Given the description of an element on the screen output the (x, y) to click on. 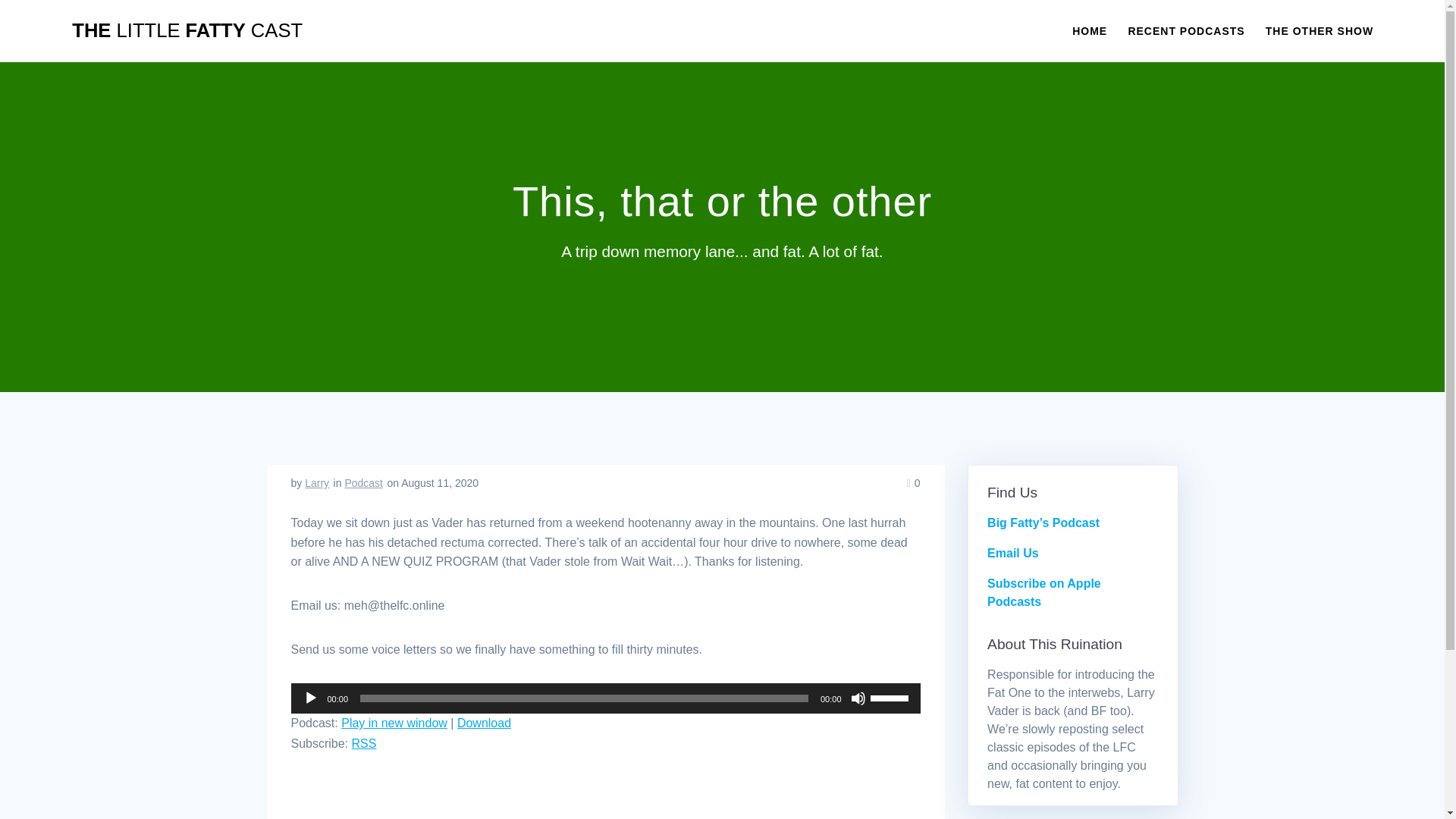
Podcast (362, 482)
RECENT PODCASTS (1185, 30)
Posts by Larry (316, 482)
Play in new window (393, 722)
THE OTHER SHOW (1319, 30)
Download (484, 722)
THE LITTLE FATTY CAST (186, 30)
Larry (316, 482)
RSS (364, 743)
Subscribe on Apple Podcasts (1043, 592)
HOME (1088, 30)
Play in new window (393, 722)
Play (310, 698)
Download (484, 722)
